Given the description of an element on the screen output the (x, y) to click on. 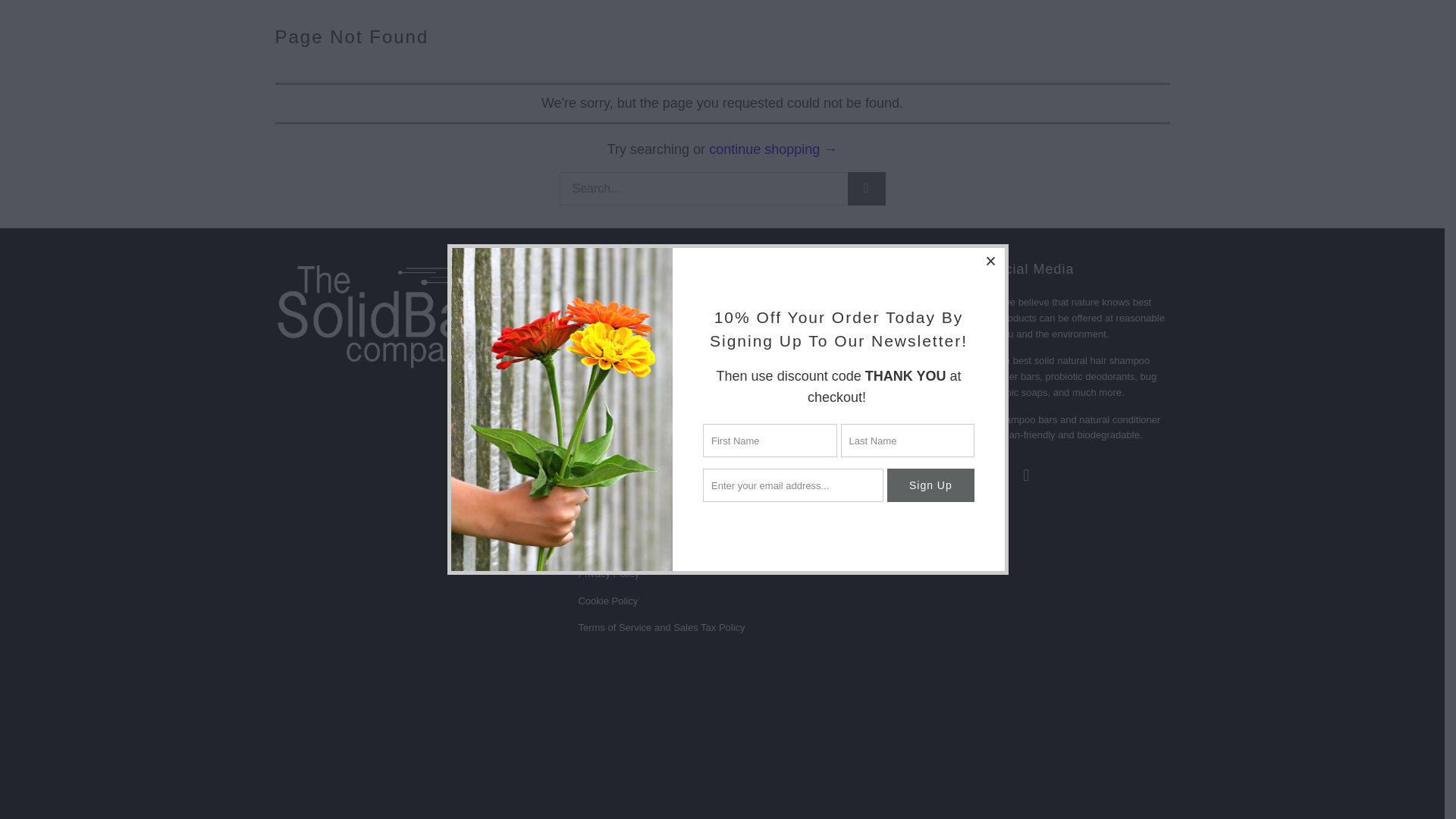
Diners Club (994, 748)
The Solid Bar Company on Twitter (999, 475)
Discover (1034, 748)
The Solid Bar Company on Facebook (919, 475)
Visa (1150, 779)
The Solid Bar Company on Instagram (946, 475)
Sign Up (930, 309)
Apple Pay (955, 748)
Mastercard (1150, 748)
PayPal (1034, 779)
Union Pay (1112, 779)
Shop Pay (1072, 779)
American Express (916, 748)
Email The Solid Bar Company (892, 475)
The Solid Bar Company on Pinterest (972, 475)
